Given the description of an element on the screen output the (x, y) to click on. 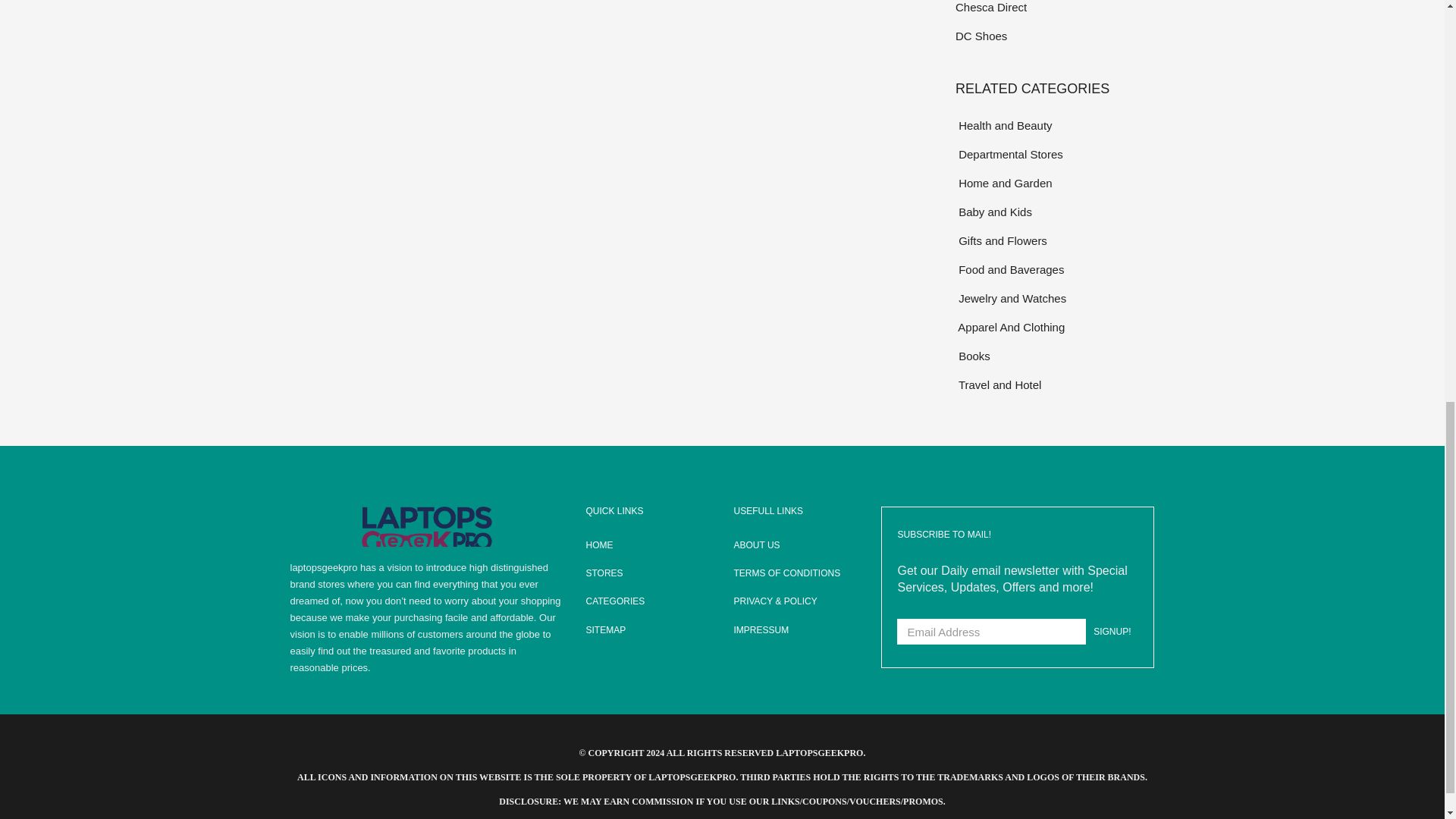
 Jewelry and Watches (1054, 298)
DC Shoes (1054, 35)
 Baby and Kids (1054, 211)
 Travel and Hotel (1054, 384)
 Books (1054, 355)
STORES (647, 573)
 Apparel And Clothing (1054, 326)
CATEGORIES (647, 601)
 Gifts and Flowers (1054, 240)
 Food and Baverages (1054, 269)
